Given the description of an element on the screen output the (x, y) to click on. 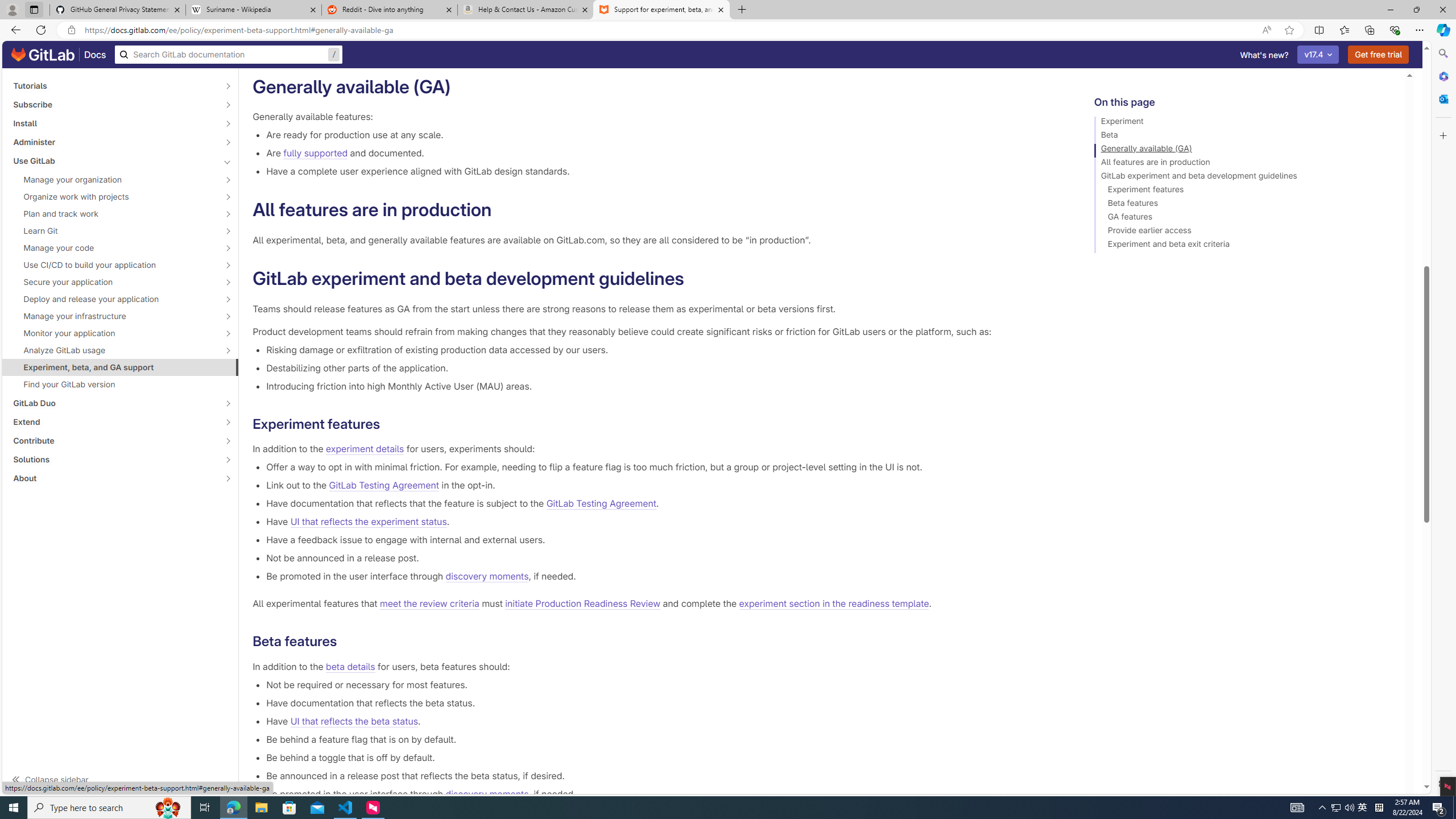
GitLab experiment and beta development guidelines (1244, 177)
/ (229, 54)
Suriname - Wikipedia (253, 9)
Have UI that reflects the experiment status. (662, 521)
Beta (1244, 136)
What's new? (1263, 54)
